Given the description of an element on the screen output the (x, y) to click on. 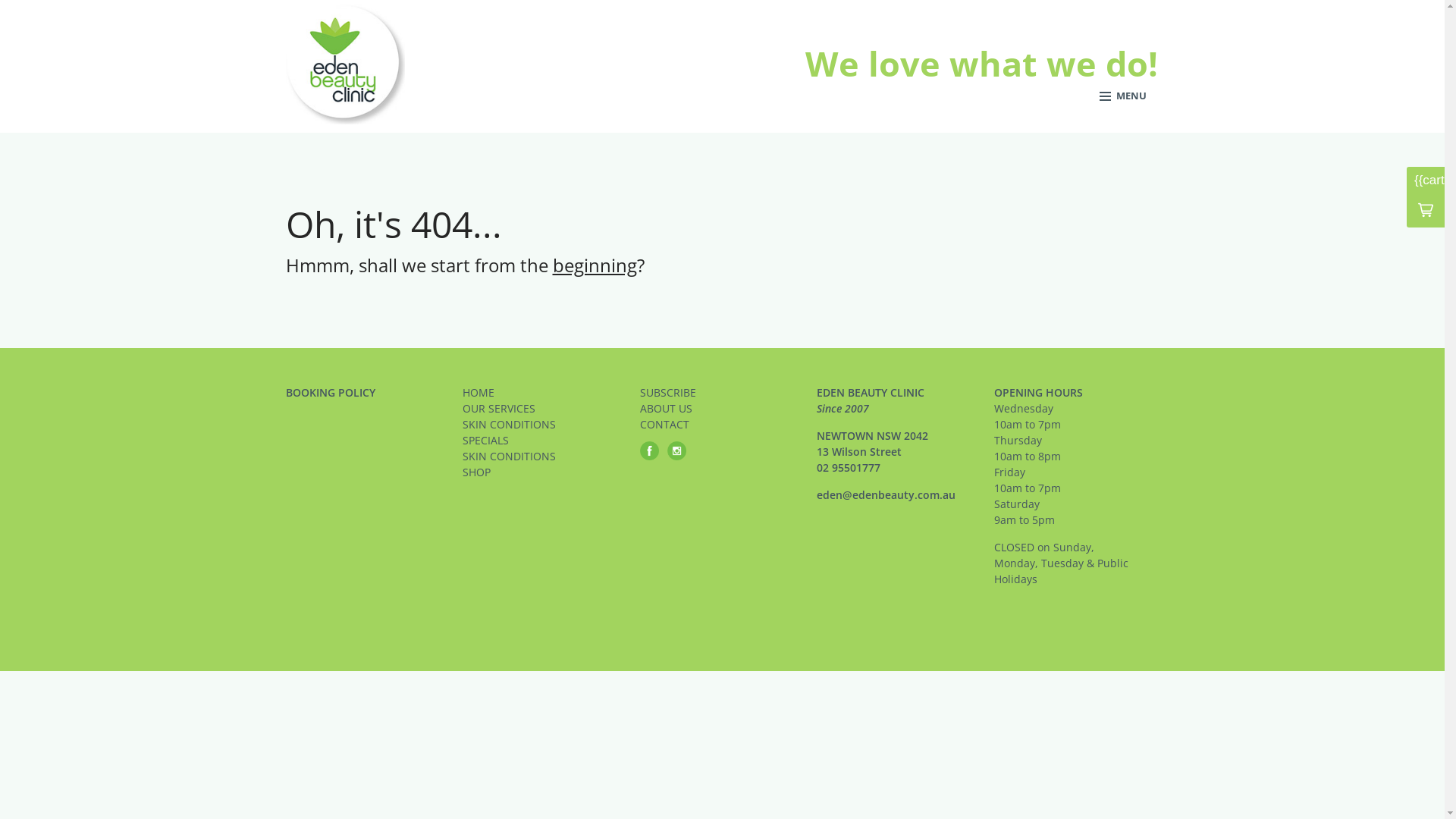
SKIN CONDITIONS Element type: text (544, 424)
OUR SERVICES Element type: text (544, 408)
SHOP Element type: text (544, 472)
SKIN CONDITIONS Element type: text (544, 456)
SUBSCRIBE Element type: text (722, 392)
CONTACT Element type: text (722, 424)
BOOKING POLICY Element type: text (367, 392)
ABOUT US Element type: text (722, 408)
HOME Element type: text (544, 392)
beginning Element type: text (594, 264)
SPECIALS Element type: text (544, 440)
